Given the description of an element on the screen output the (x, y) to click on. 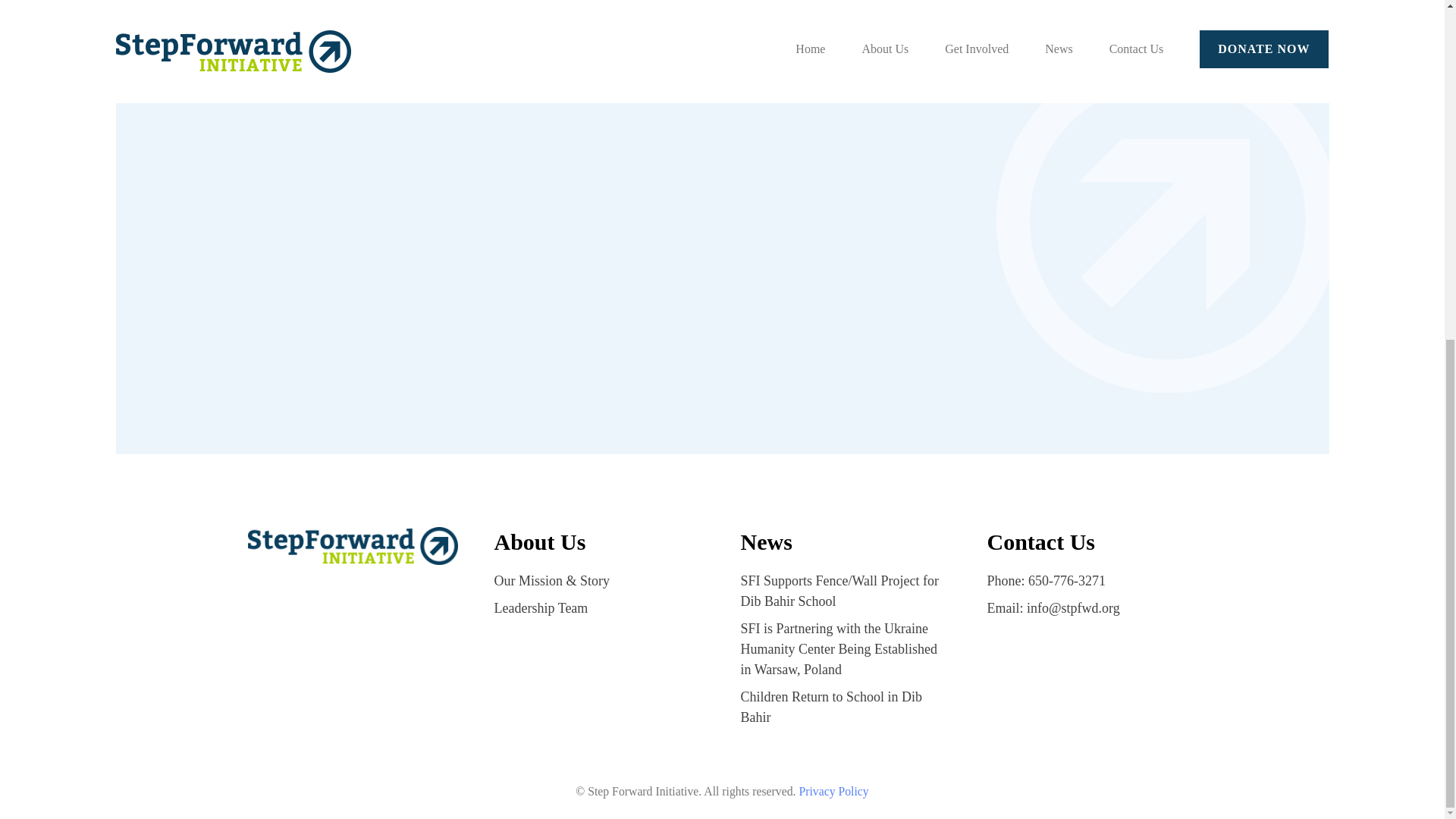
Privacy Policy (832, 790)
Leadership Team (541, 607)
Children Return to School in Dib Bahir (830, 706)
